Given the description of an element on the screen output the (x, y) to click on. 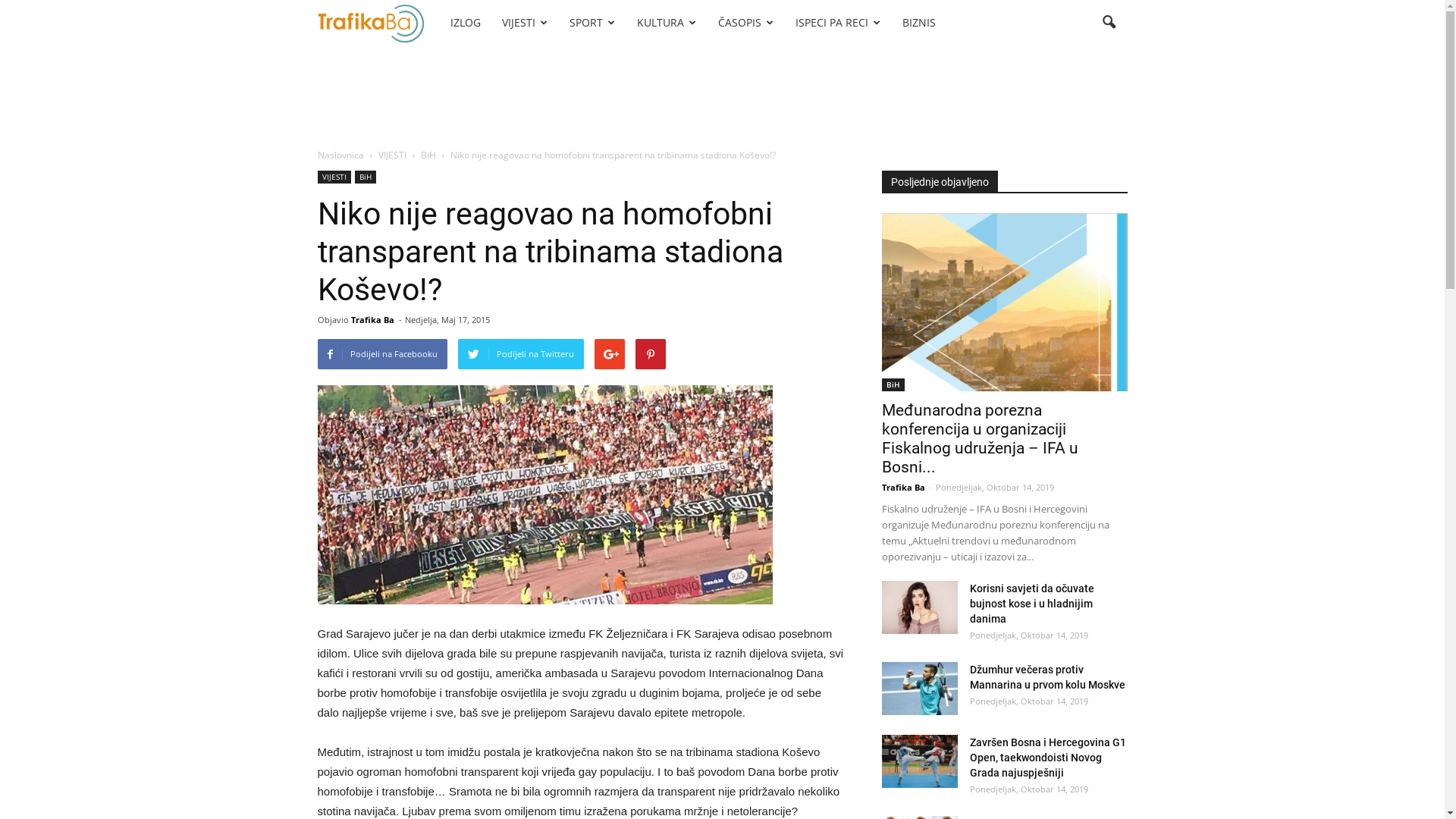
VIJESTI Element type: text (524, 22)
Trafika Ba Element type: text (371, 319)
SPORT Element type: text (592, 22)
Trafika Ba Element type: text (902, 486)
BIZNIS Element type: text (918, 22)
BiH Element type: text (365, 176)
BiH Element type: text (427, 154)
Trafika.BA Element type: text (377, 23)
BiH Element type: text (892, 384)
KULTURA Element type: text (666, 22)
Podijeli na Twitteru Element type: text (520, 353)
Naslovnica Element type: text (339, 154)
Podijeli na Facebooku Element type: text (381, 353)
Advertisement Element type: hover (721, 97)
VIJESTI Element type: text (391, 154)
IZLOG Element type: text (465, 22)
VIJESTI Element type: text (333, 176)
ISPECI PA RECI Element type: text (837, 22)
